Given the description of an element on the screen output the (x, y) to click on. 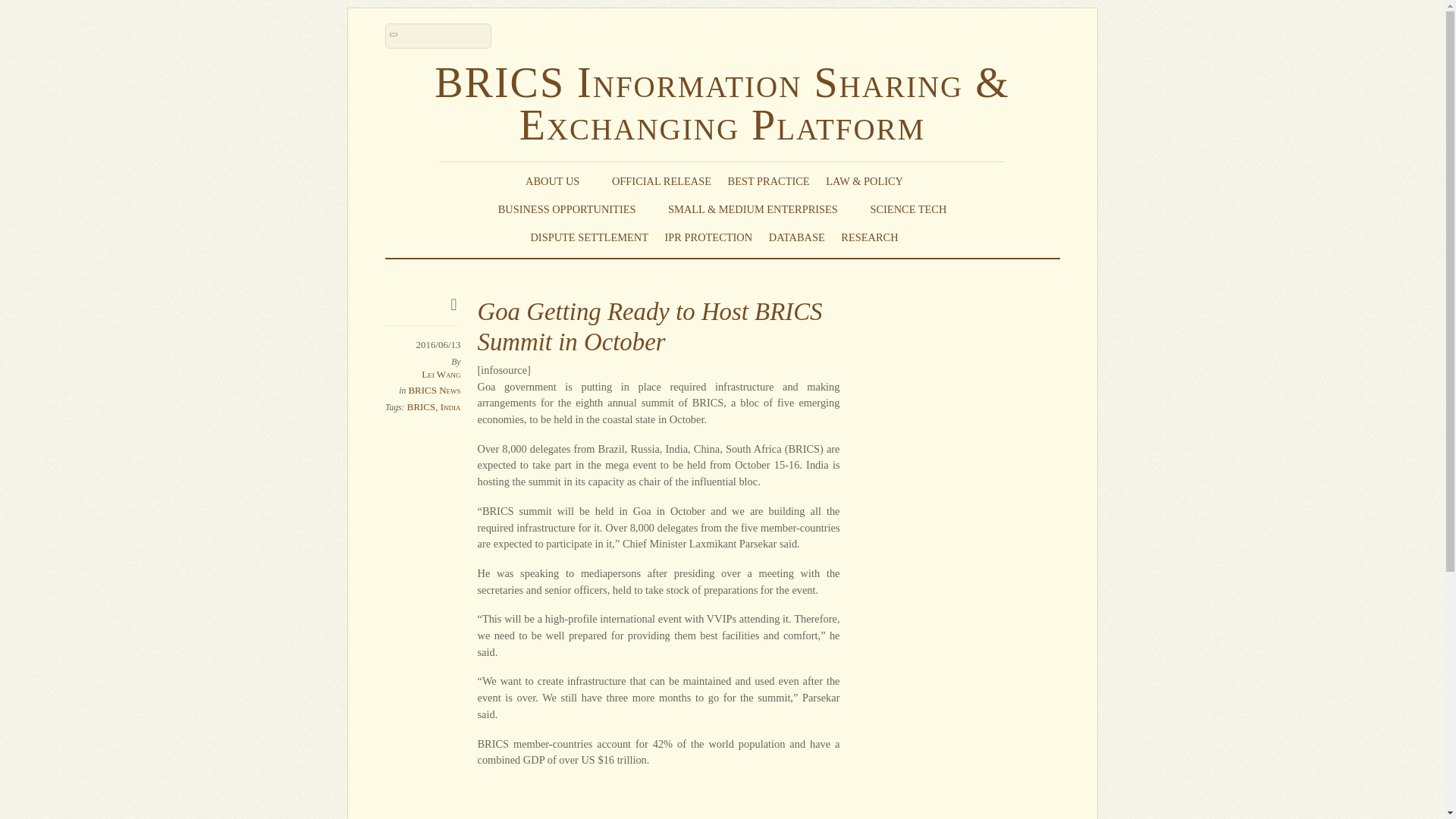
BEST PRACTICE (768, 180)
IPR PROTECTION (709, 237)
Lei Wang (441, 374)
India (451, 406)
BUSINESS OPPORTUNITIES (575, 209)
SCIENCE TECH (908, 209)
ABOUT US (559, 180)
BRICS (421, 406)
RESEARCH (877, 237)
DISPUTE SETTLEMENT (588, 237)
DATABASE (796, 237)
OFFICIAL RELEASE (661, 180)
Goa Getting Ready to Host BRICS Summit in October (649, 326)
BRICS News (433, 389)
Search (438, 35)
